Given the description of an element on the screen output the (x, y) to click on. 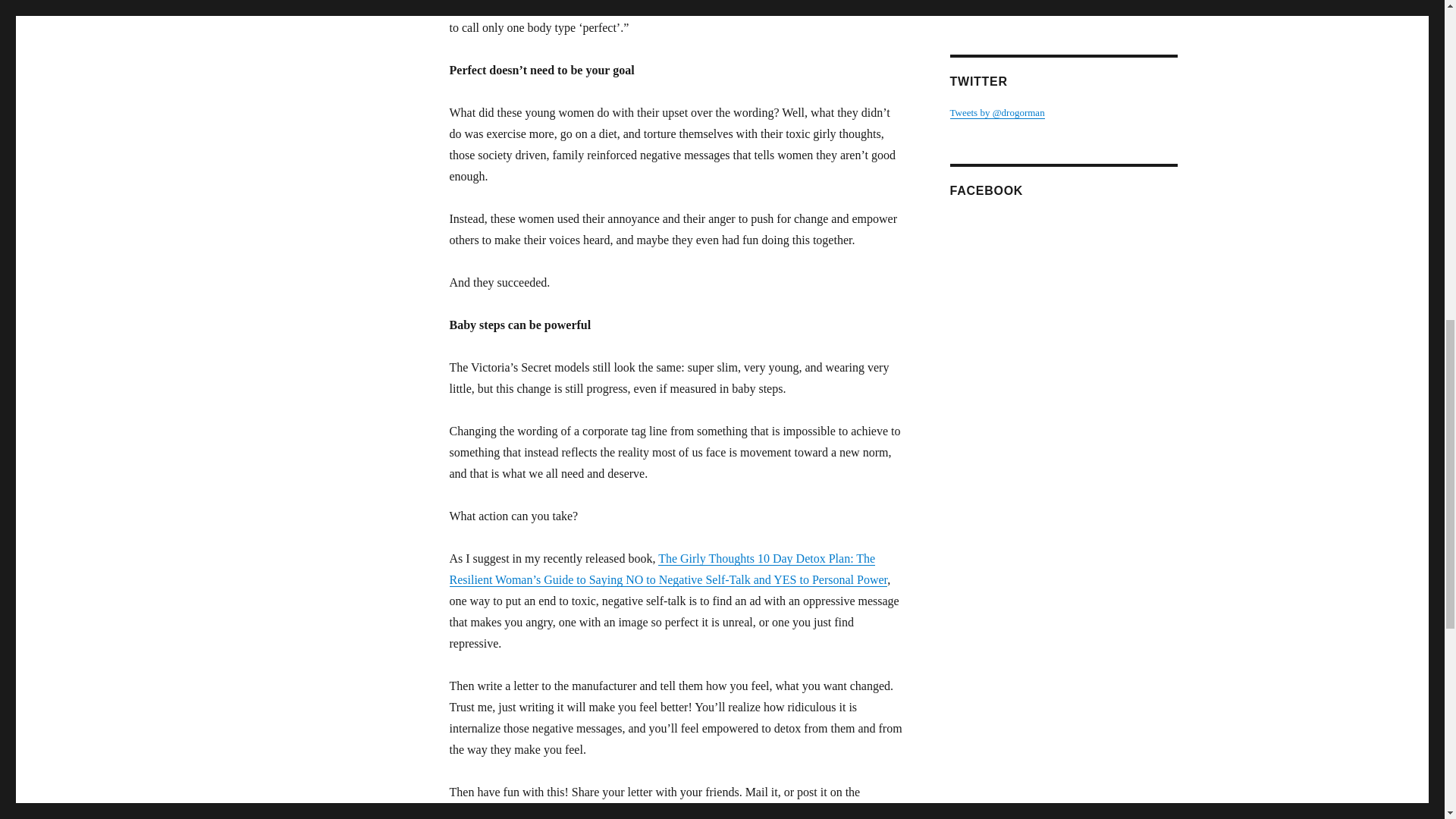
www.patriciaogorman.com (1003, 4)
